Given the description of an element on the screen output the (x, y) to click on. 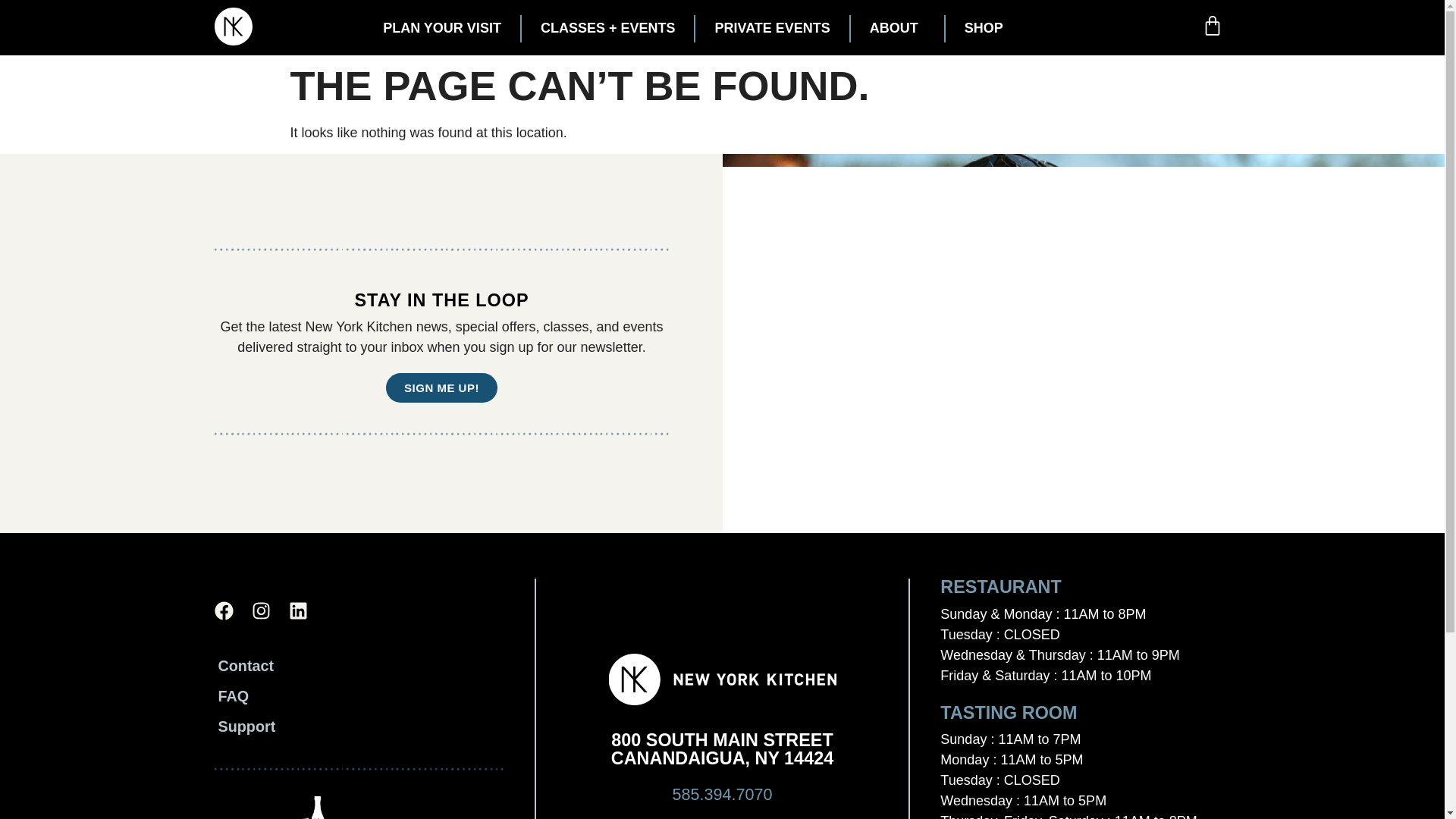
PRIVATE EVENTS (771, 28)
ABOUT (897, 28)
PLAN YOUR VISIT (441, 28)
